Given the description of an element on the screen output the (x, y) to click on. 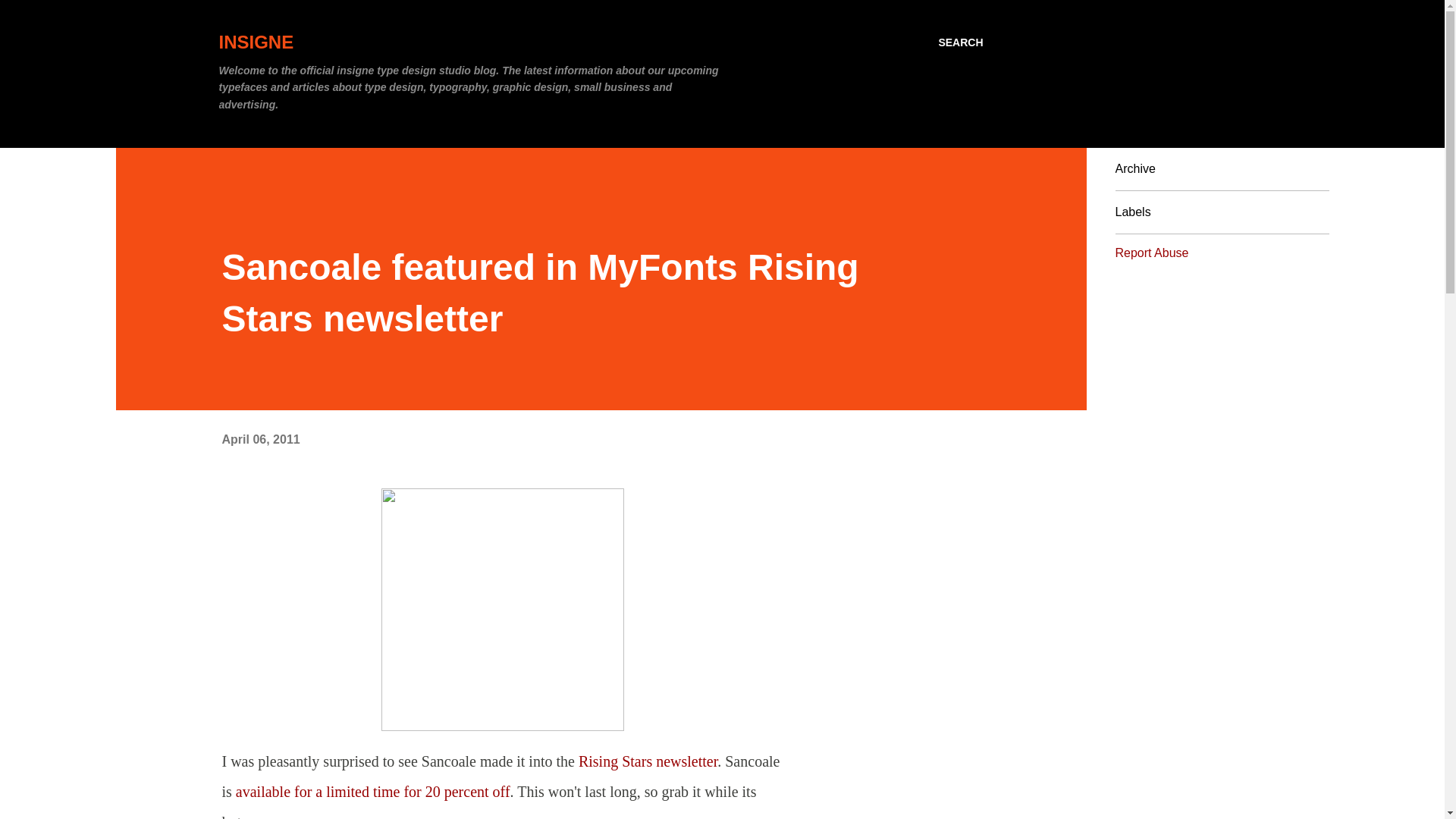
Rising Stars newsletter (647, 760)
permanent link (260, 439)
April 06, 2011 (260, 439)
SEARCH (959, 42)
available for a limited time for 20 percent off (373, 791)
INSIGNE (256, 41)
